Given the description of an element on the screen output the (x, y) to click on. 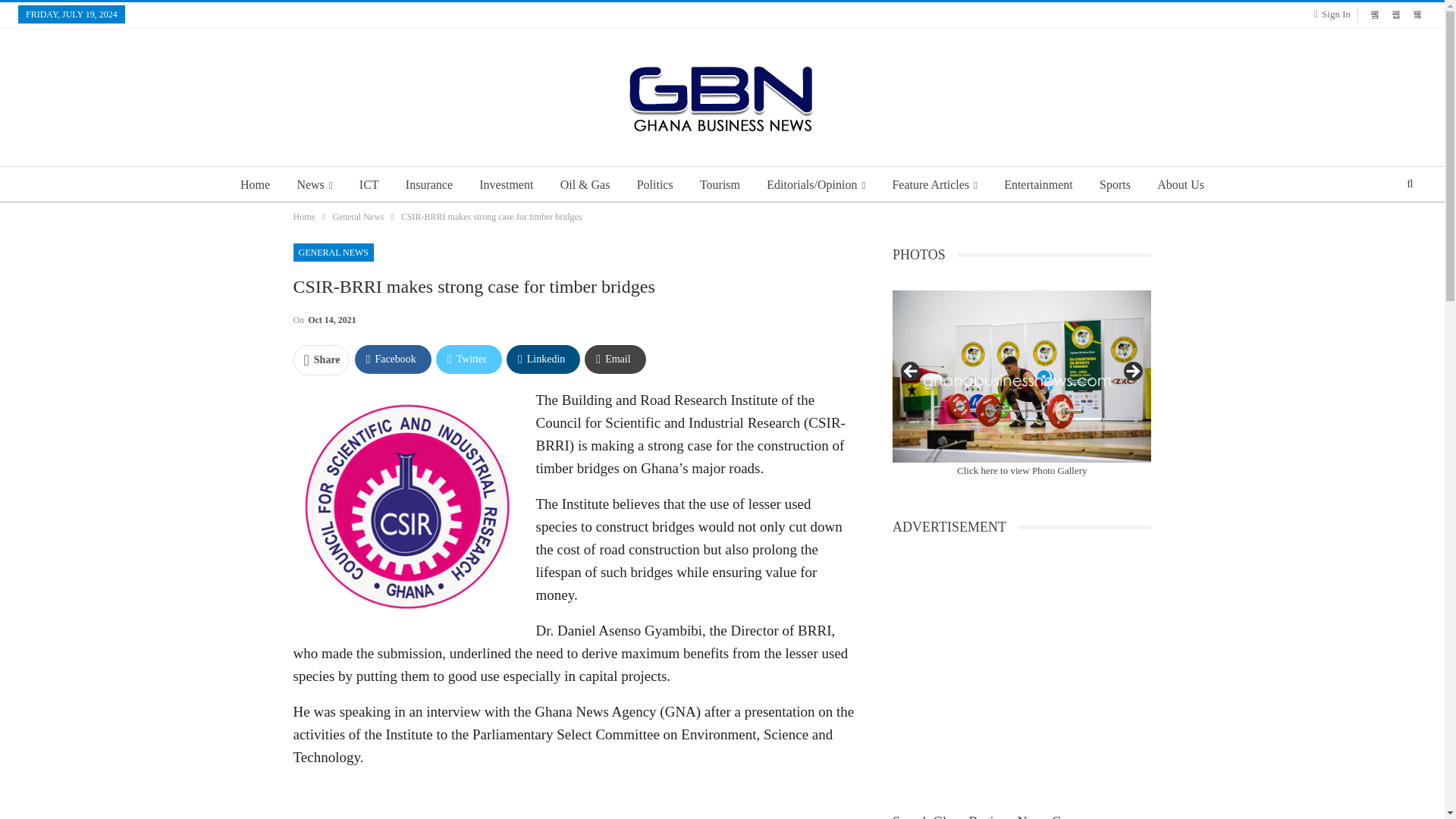
About Us (1180, 185)
Entertainment (1037, 185)
Linkedin (542, 358)
Feature Articles (934, 185)
General News (357, 216)
News (313, 185)
Facebook (392, 358)
Email (615, 358)
Home (303, 216)
Advertisement (574, 800)
Investment (505, 185)
Sports (1115, 185)
GENERAL NEWS (333, 252)
Politics (654, 185)
ICT (369, 185)
